Given the description of an element on the screen output the (x, y) to click on. 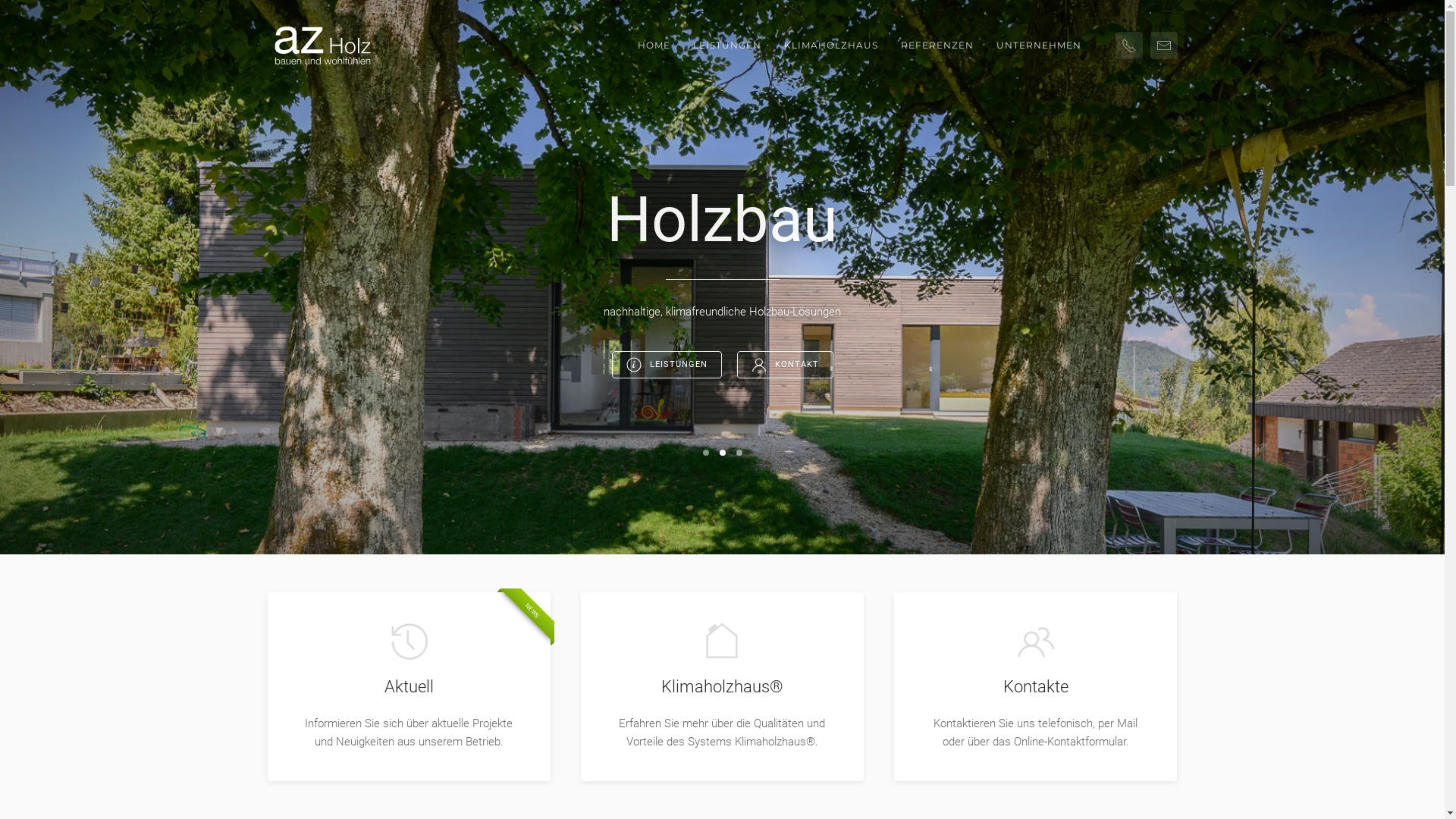
LEISTUNGEN Element type: text (725, 45)
REFERENZEN Element type: text (936, 45)
KLIMAHOLZHAUS Element type: text (829, 45)
LEISTUNGEN Element type: text (666, 364)
UNTERNEHMEN Element type: text (1038, 45)
HOME Element type: text (653, 45)
KONTAKT Element type: text (785, 364)
